Given the description of an element on the screen output the (x, y) to click on. 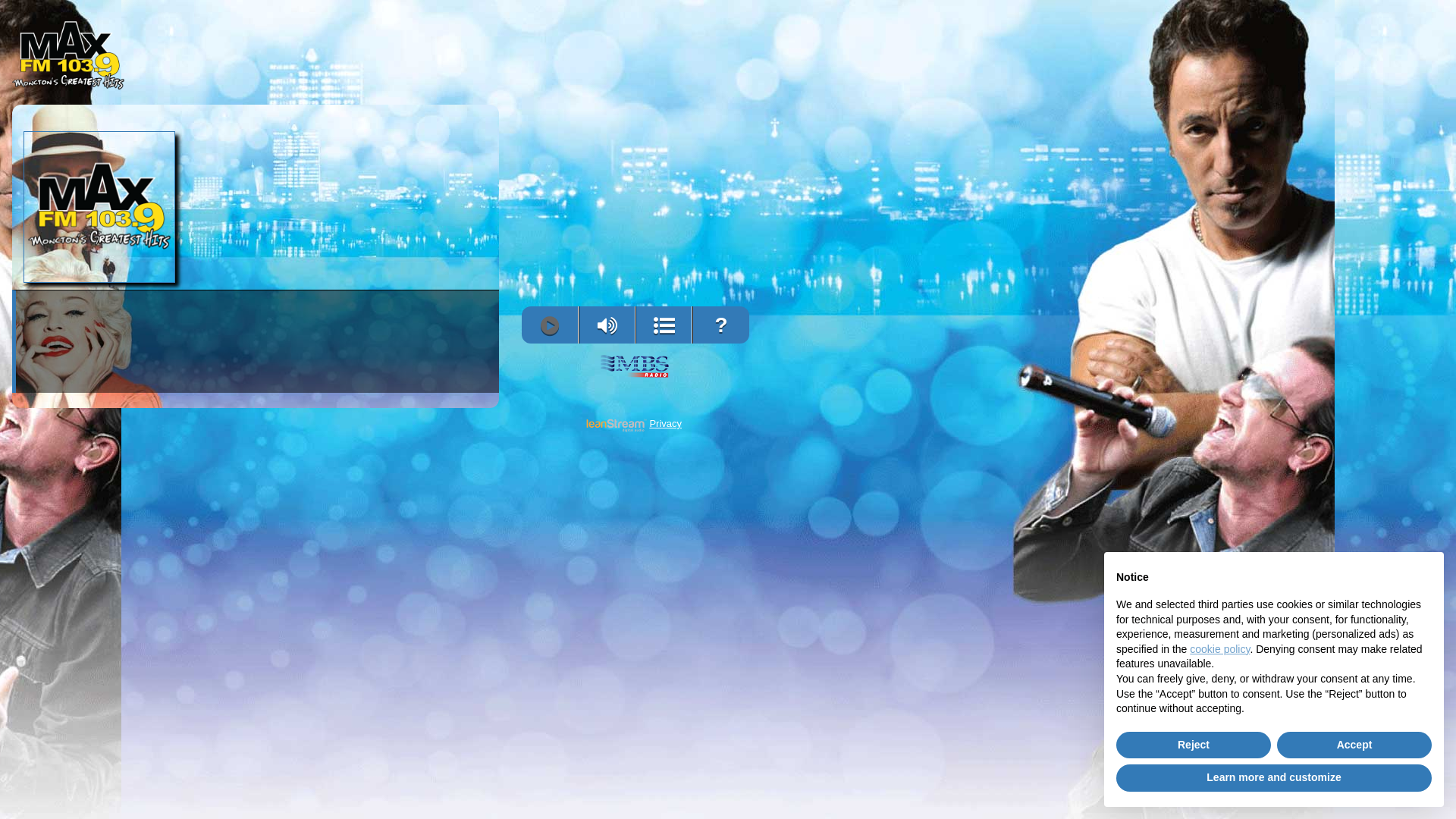
Learn more and customize Element type: text (1273, 777)
Reject Element type: text (1193, 745)
? Element type: text (720, 324)
Privacy Element type: text (665, 423)
Play Element type: hover (549, 325)
Volume Element type: hover (606, 325)
View Song History Element type: hover (663, 325)
Accept Element type: text (1354, 745)
cookie policy Element type: text (1219, 649)
